Given the description of an element on the screen output the (x, y) to click on. 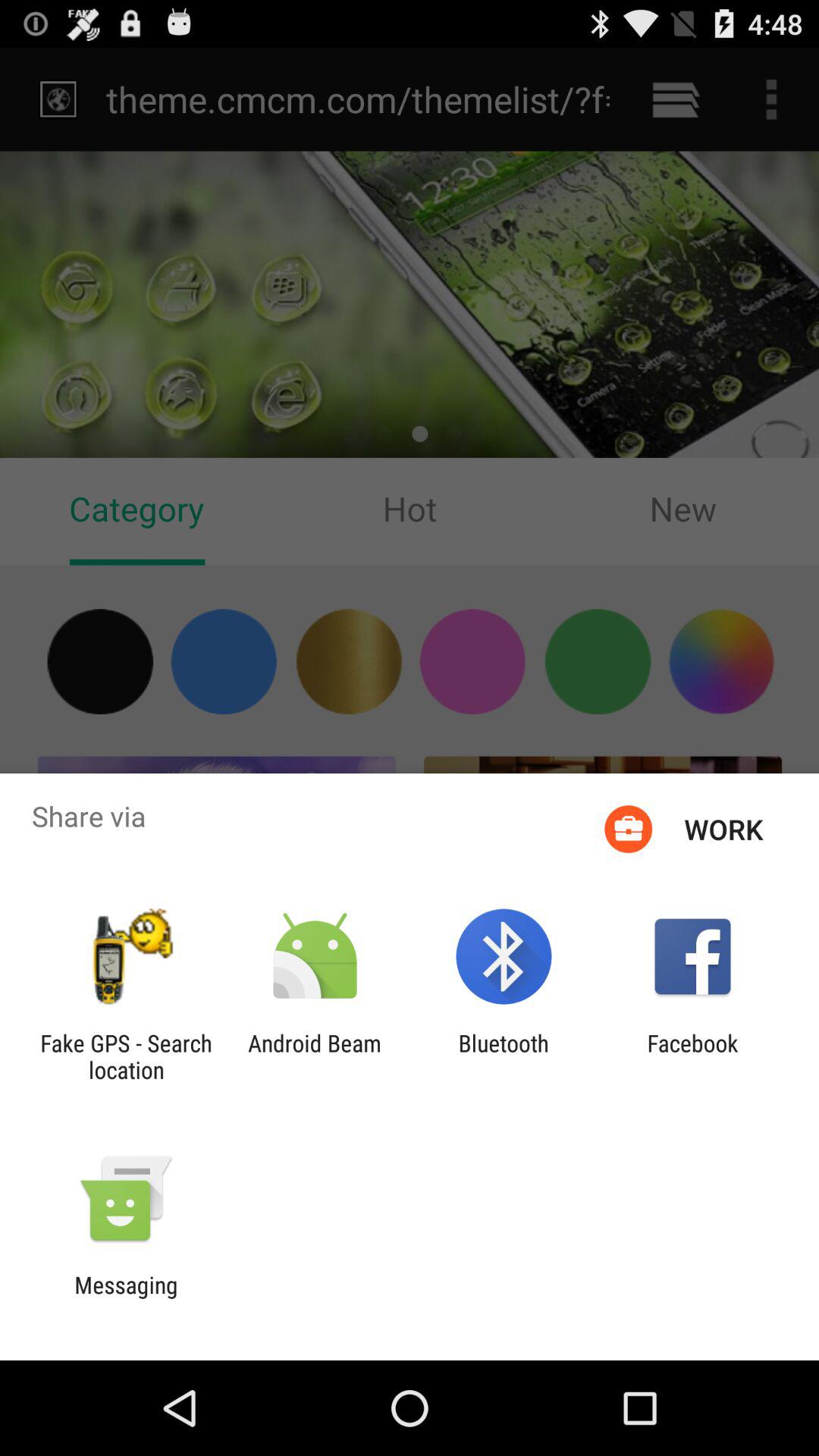
flip until android beam (314, 1056)
